Given the description of an element on the screen output the (x, y) to click on. 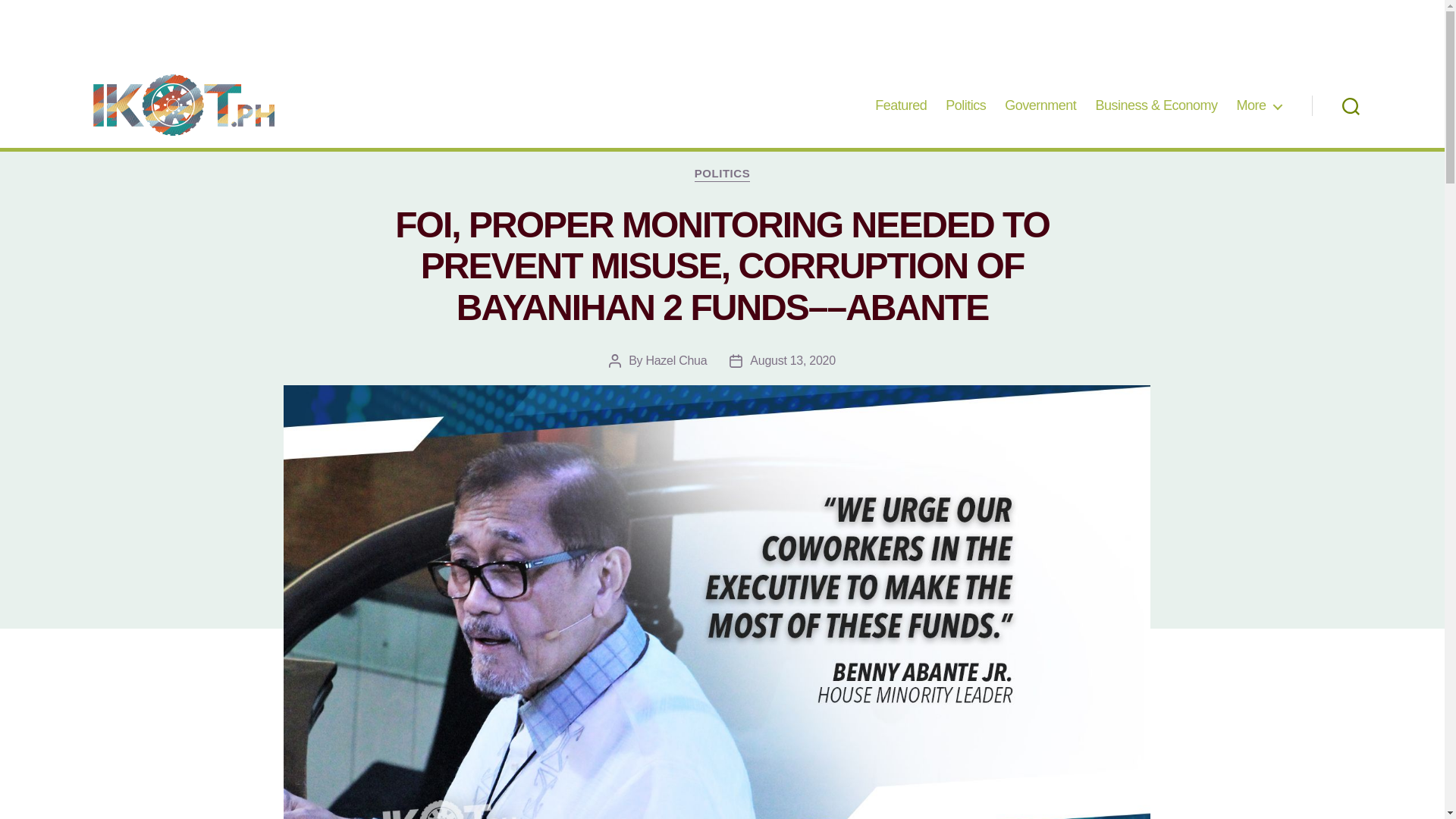
POLITICS (722, 174)
Hazel Chua (675, 359)
Featured (900, 105)
August 13, 2020 (792, 359)
Government (1039, 105)
Politics (964, 105)
More (1258, 105)
